Given the description of an element on the screen output the (x, y) to click on. 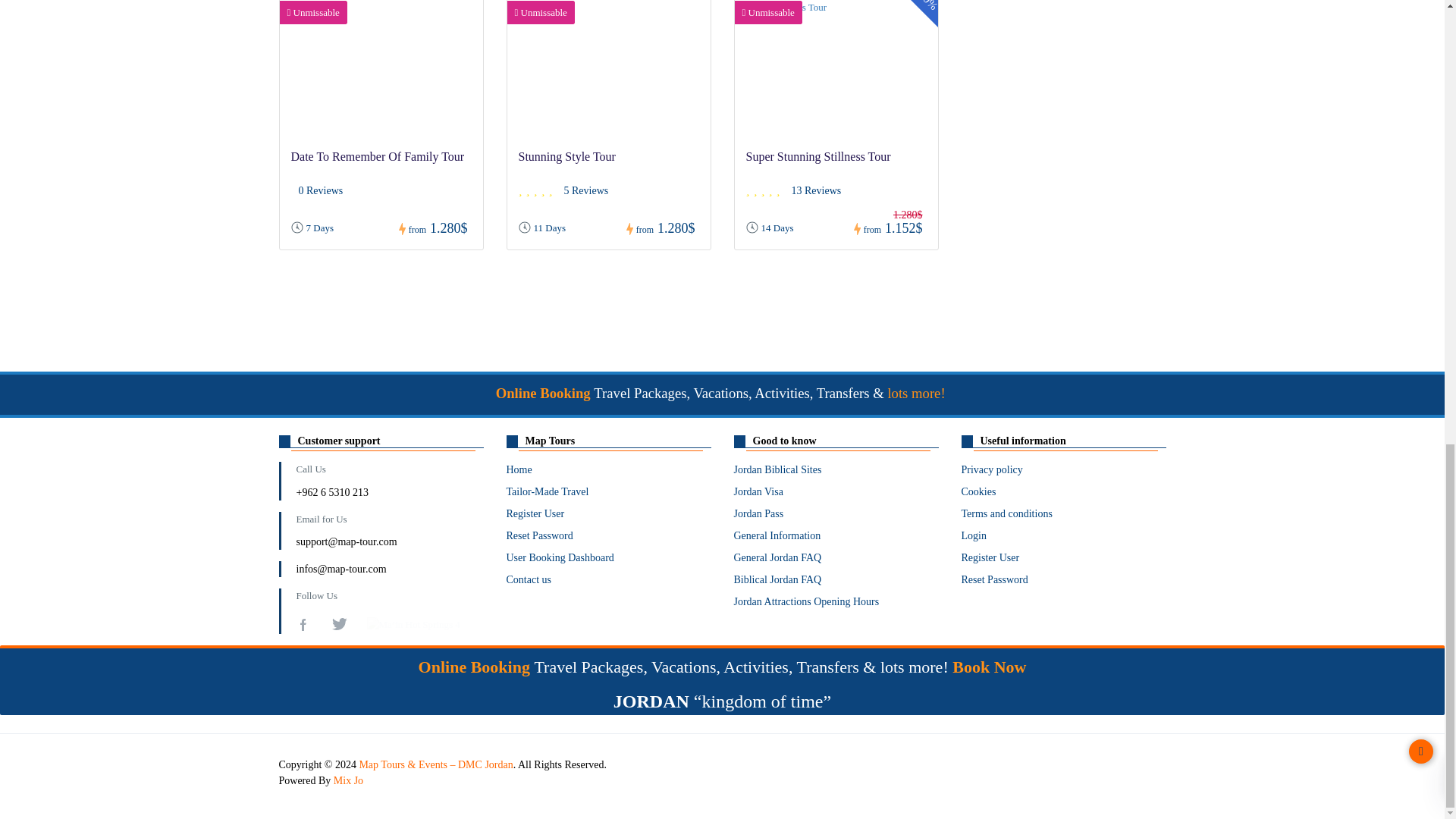
Add to wishlist (910, 11)
Super Stunning Stillness Tour (818, 155)
Add to wishlist (682, 11)
Stunning Style Tour (566, 155)
Add to wishlist (455, 11)
Date To Remember Of Family Tour (377, 155)
